Given the description of an element on the screen output the (x, y) to click on. 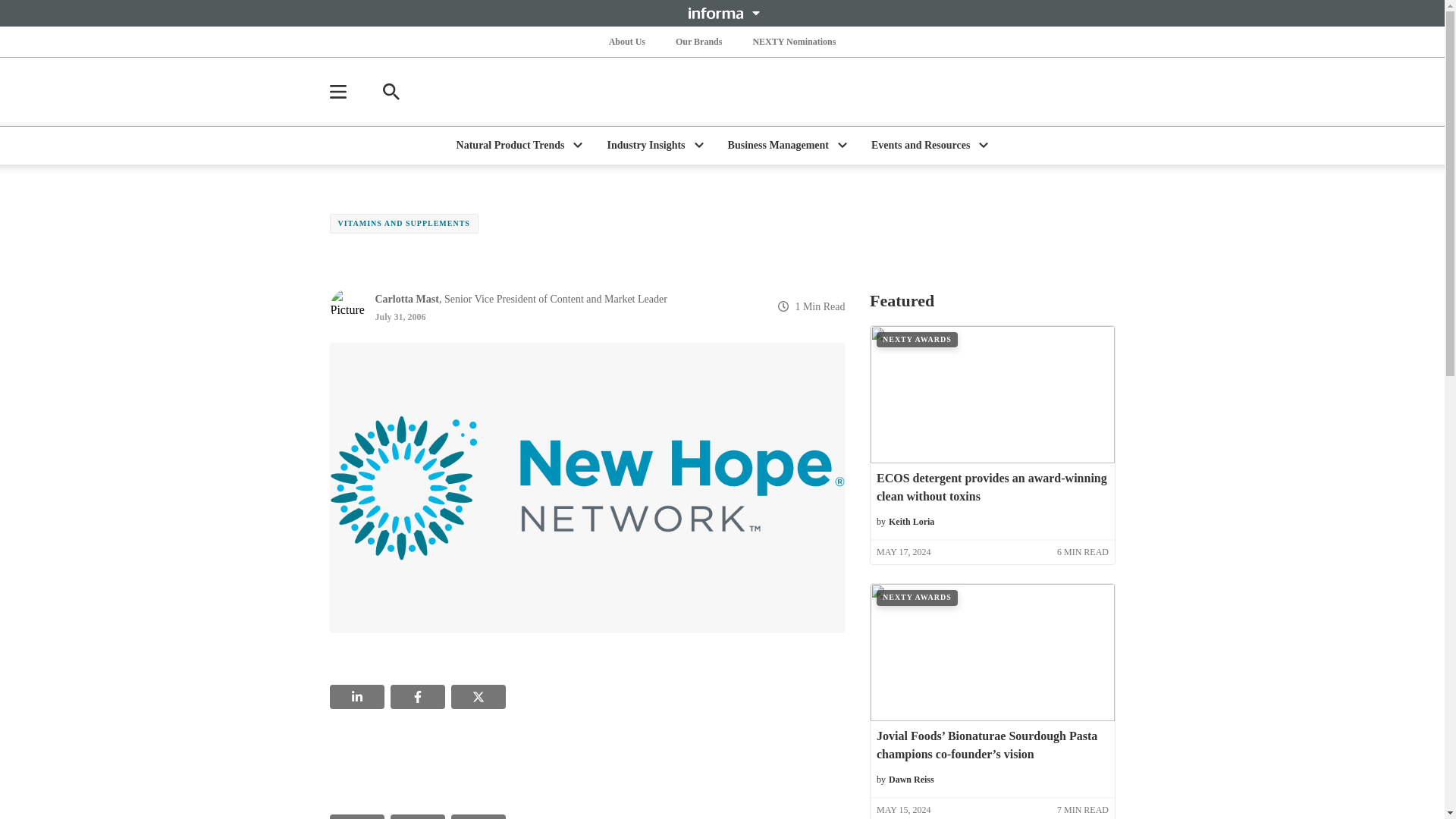
Our Brands (698, 41)
About Us (626, 41)
Picture of Carlotta Mast (347, 306)
NEXTY Nominations (793, 41)
